Given the description of an element on the screen output the (x, y) to click on. 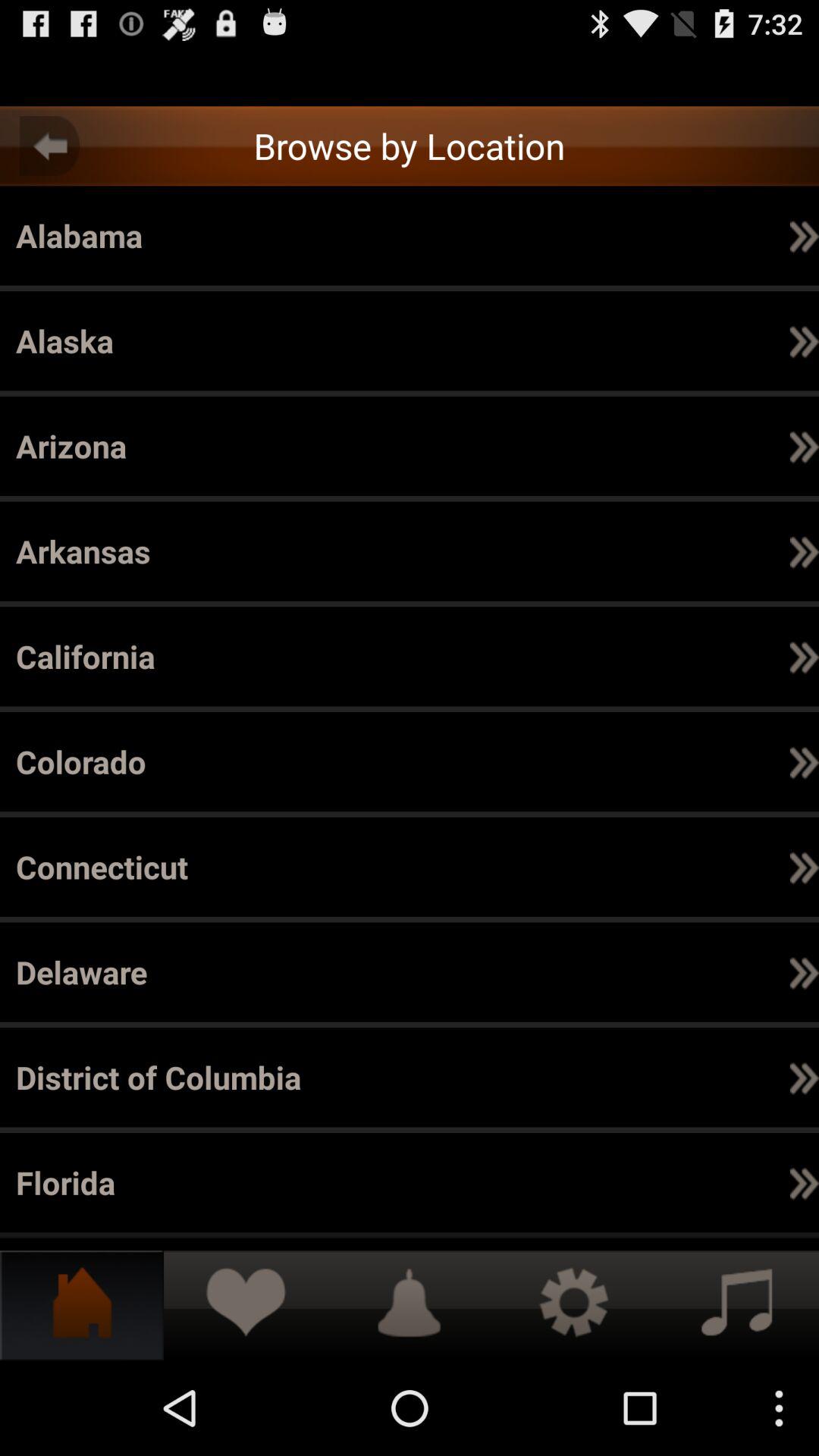
select the (658, 972)
